Given the description of an element on the screen output the (x, y) to click on. 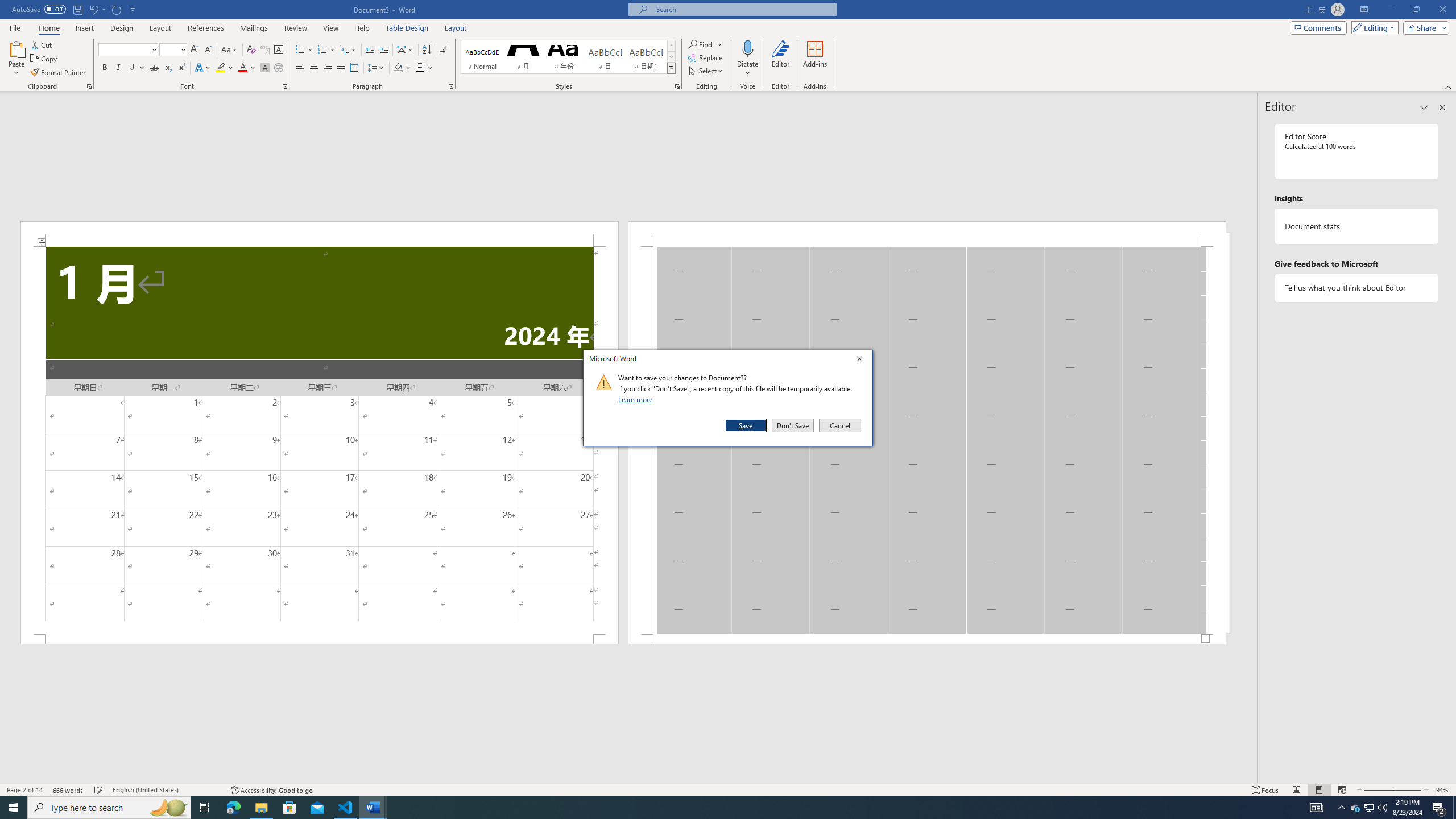
Spelling and Grammar Check Checking (98, 790)
Start (13, 807)
Tell us what you think about Editor (1356, 288)
Text Effects and Typography (202, 67)
Q2790: 100% (1382, 807)
Superscript (180, 67)
